Given the description of an element on the screen output the (x, y) to click on. 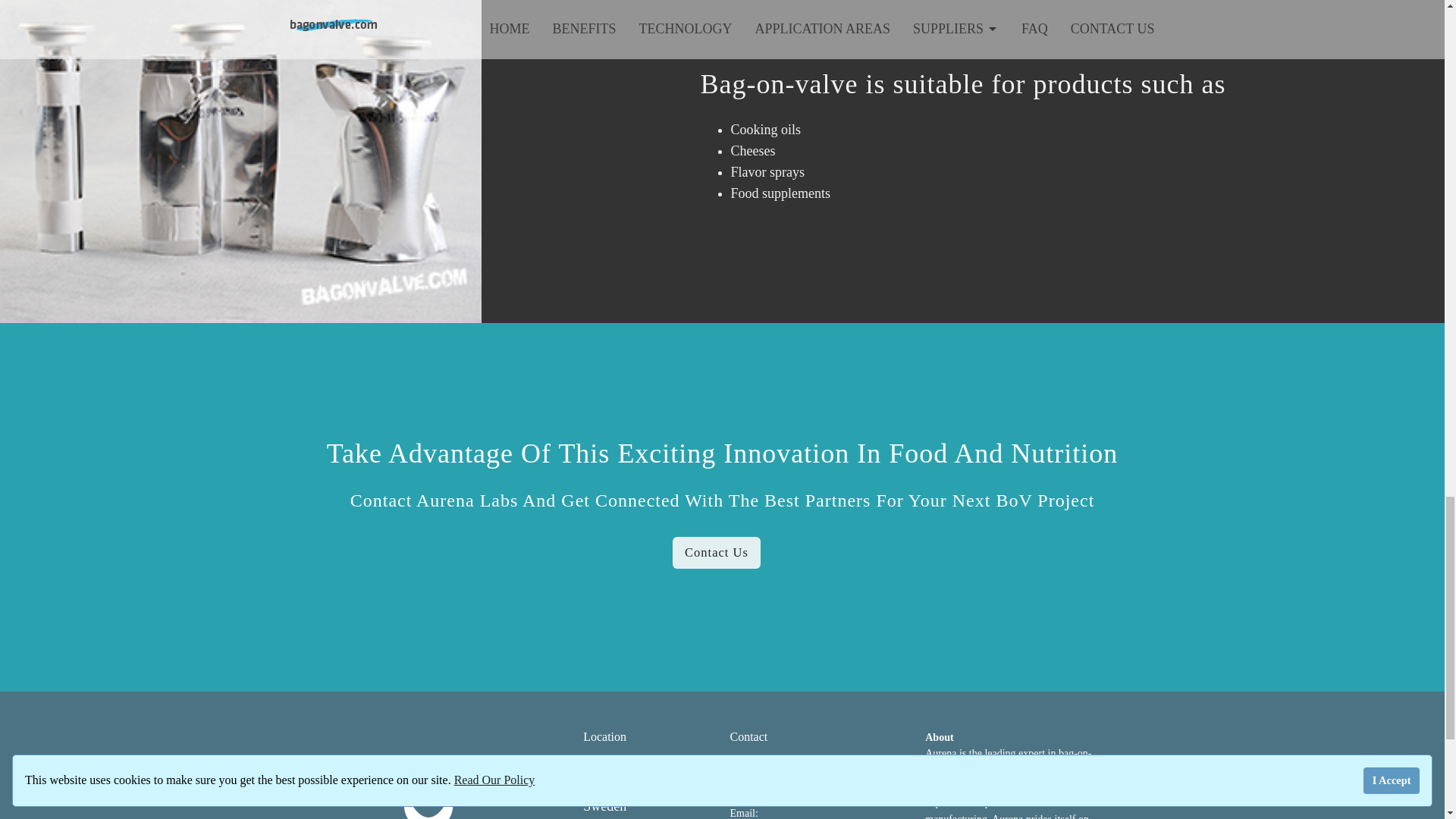
translation missing: en.ui.email (741, 813)
Contact Us (716, 552)
